Given the description of an element on the screen output the (x, y) to click on. 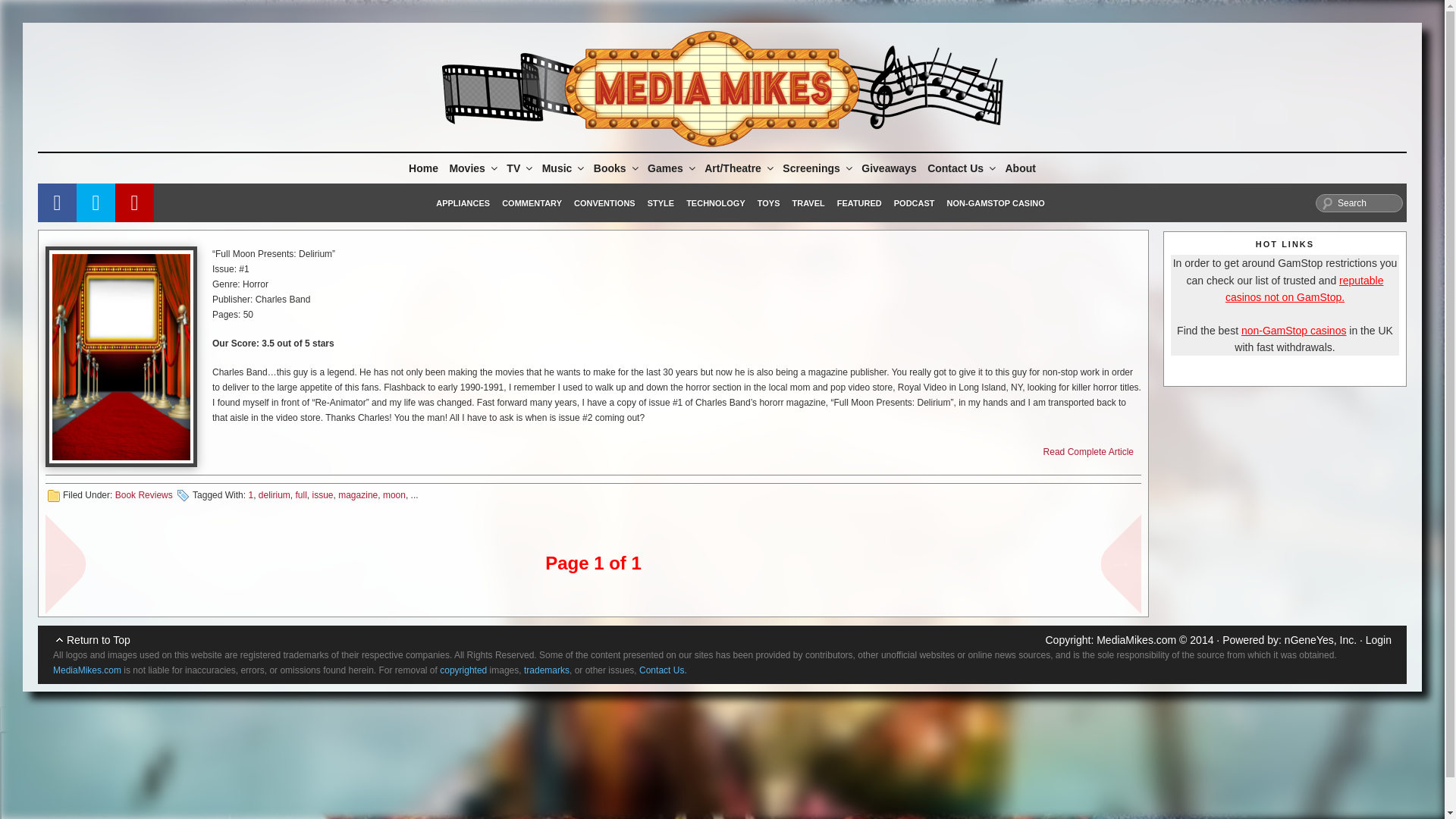
Contact Us (86, 670)
Contact Us (663, 670)
TV (518, 168)
Music (562, 168)
gamstop (1293, 330)
trademark (546, 670)
Media Mikes (1136, 639)
Home (423, 168)
Search (1359, 203)
Movies (472, 168)
gamstop (1304, 288)
Games (670, 168)
Books (614, 168)
copyright (462, 670)
